Given the description of an element on the screen output the (x, y) to click on. 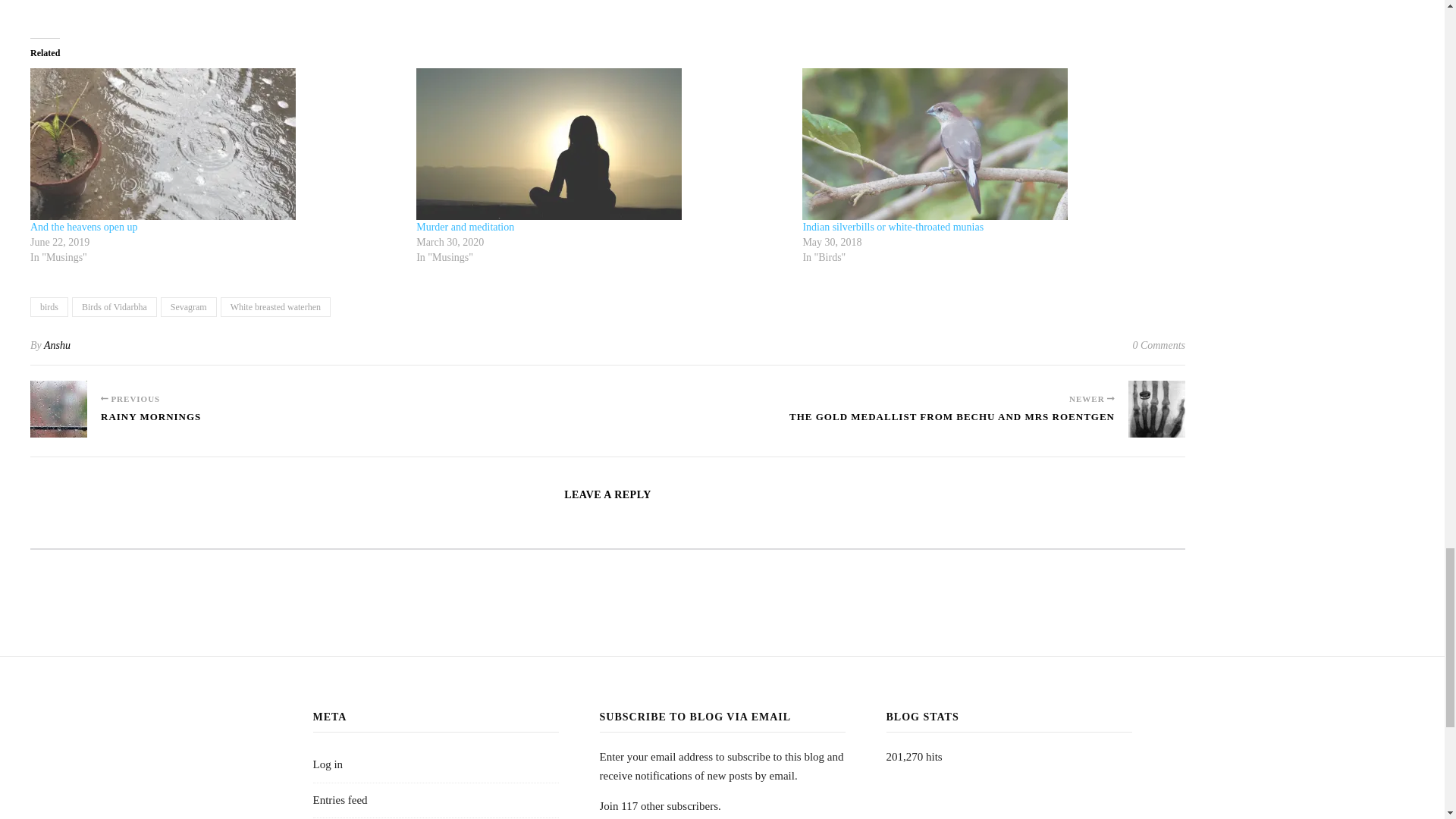
Indian silverbills or white-throated munias (987, 143)
Indian silverbills or white-throated munias (893, 226)
Rainy mornings (58, 408)
Murder and meditation (464, 226)
Posts by Anshu (56, 345)
And the heavens open up (84, 226)
Murder and meditation (601, 143)
And the heavens open up (215, 143)
